Given the description of an element on the screen output the (x, y) to click on. 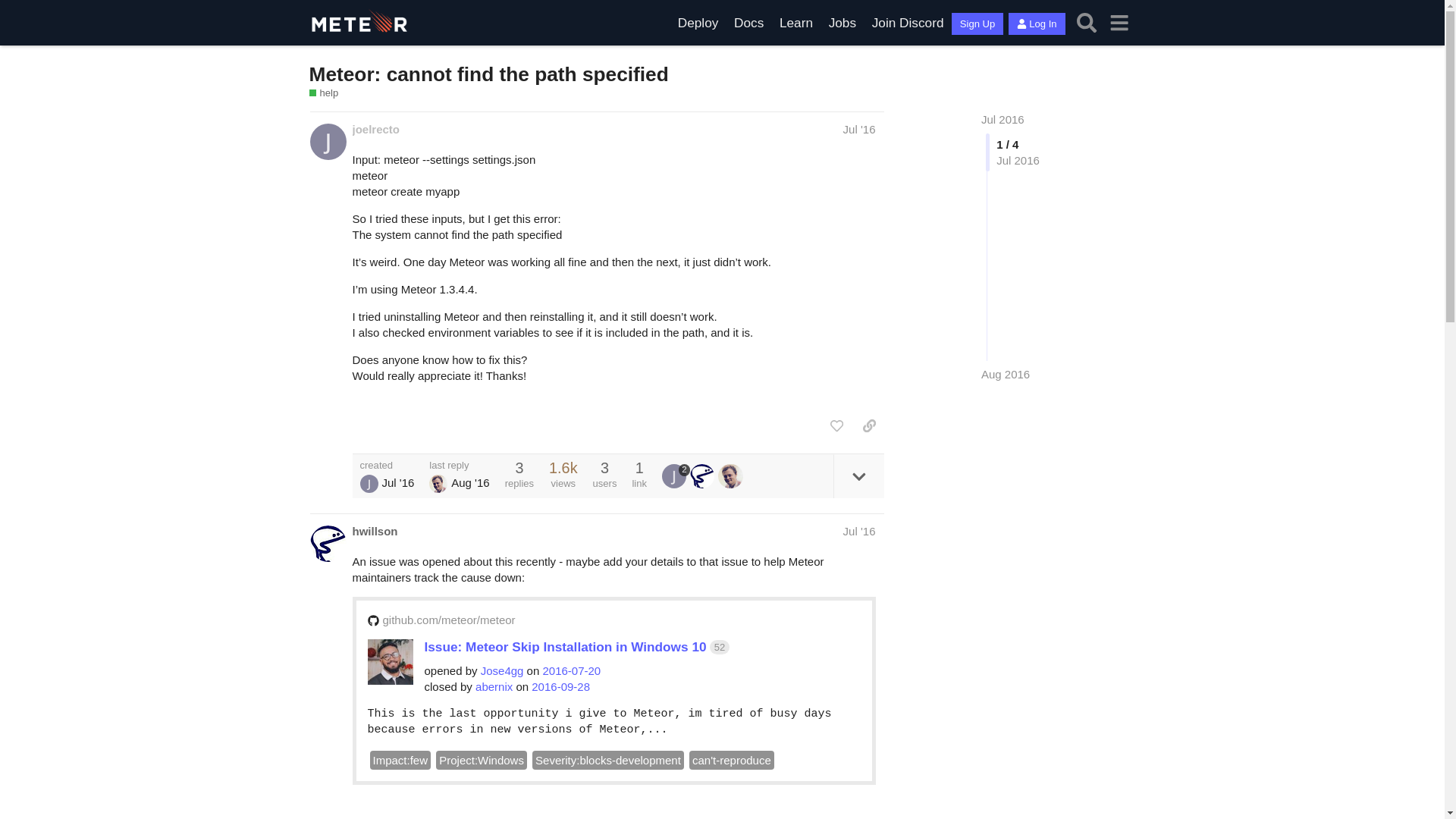
joelrecto (375, 129)
Jul '16 (859, 530)
Meteor: cannot find the path specified (488, 74)
The Meteor Lounge (906, 22)
joelrecto (368, 484)
Please sign up or log in to like this post (836, 425)
Jose4gg (502, 670)
expand topic details (857, 475)
Jul 2016 (1003, 119)
Log In (1036, 24)
